Given the description of an element on the screen output the (x, y) to click on. 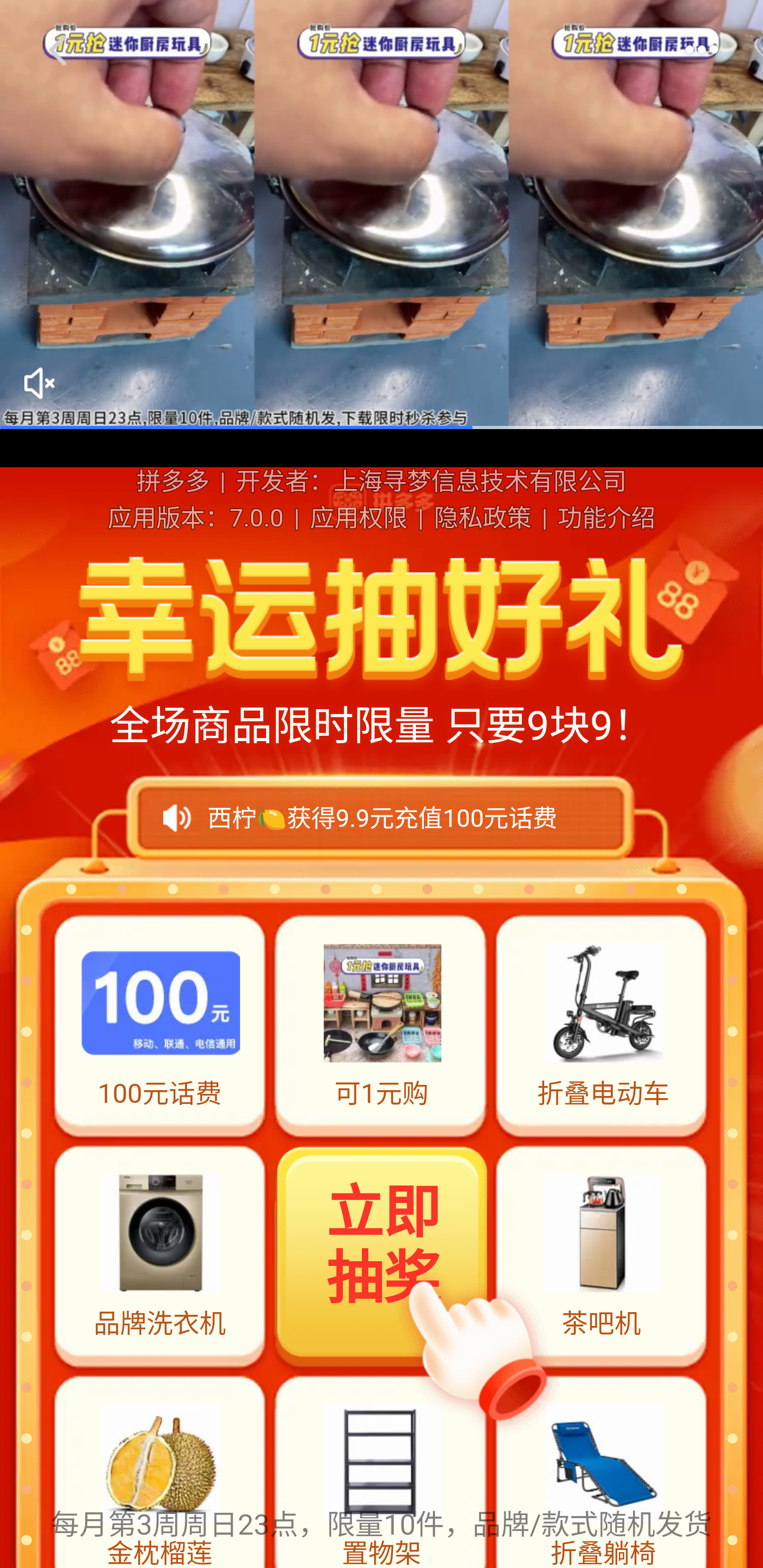
15195.0 (381, 214)
更多 (701, 48)
立即抽奖 (382, 1254)
